Given the description of an element on the screen output the (x, y) to click on. 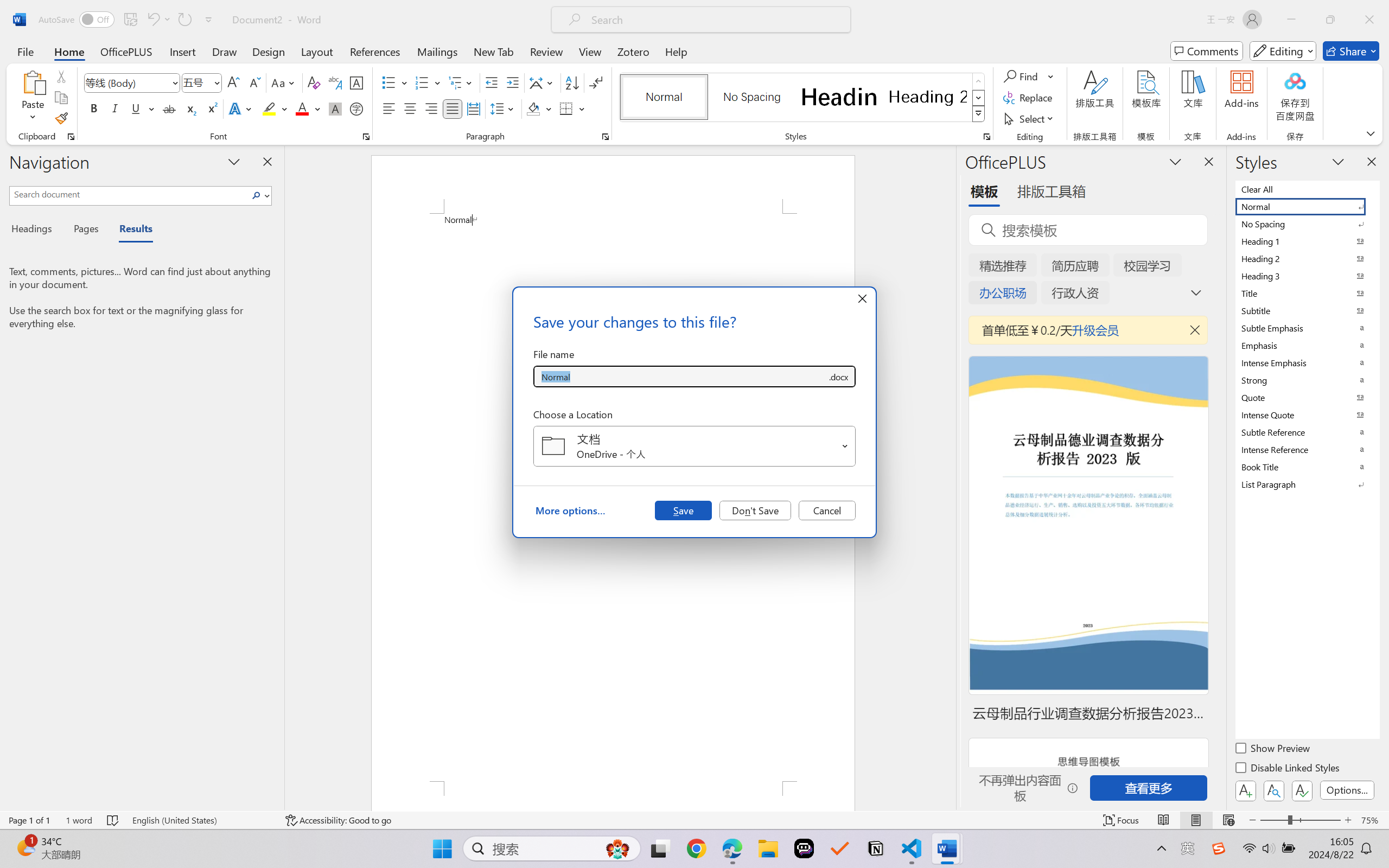
Word Count 1 word (78, 819)
View (589, 51)
OfficePLUS (126, 51)
Font Color Red (302, 108)
Normal (1306, 206)
Undo Apply Quick Style (152, 19)
Italic (115, 108)
Insert (182, 51)
Show/Hide Editing Marks (595, 82)
Subtle Reference (1306, 431)
Paste (33, 97)
